Given the description of an element on the screen output the (x, y) to click on. 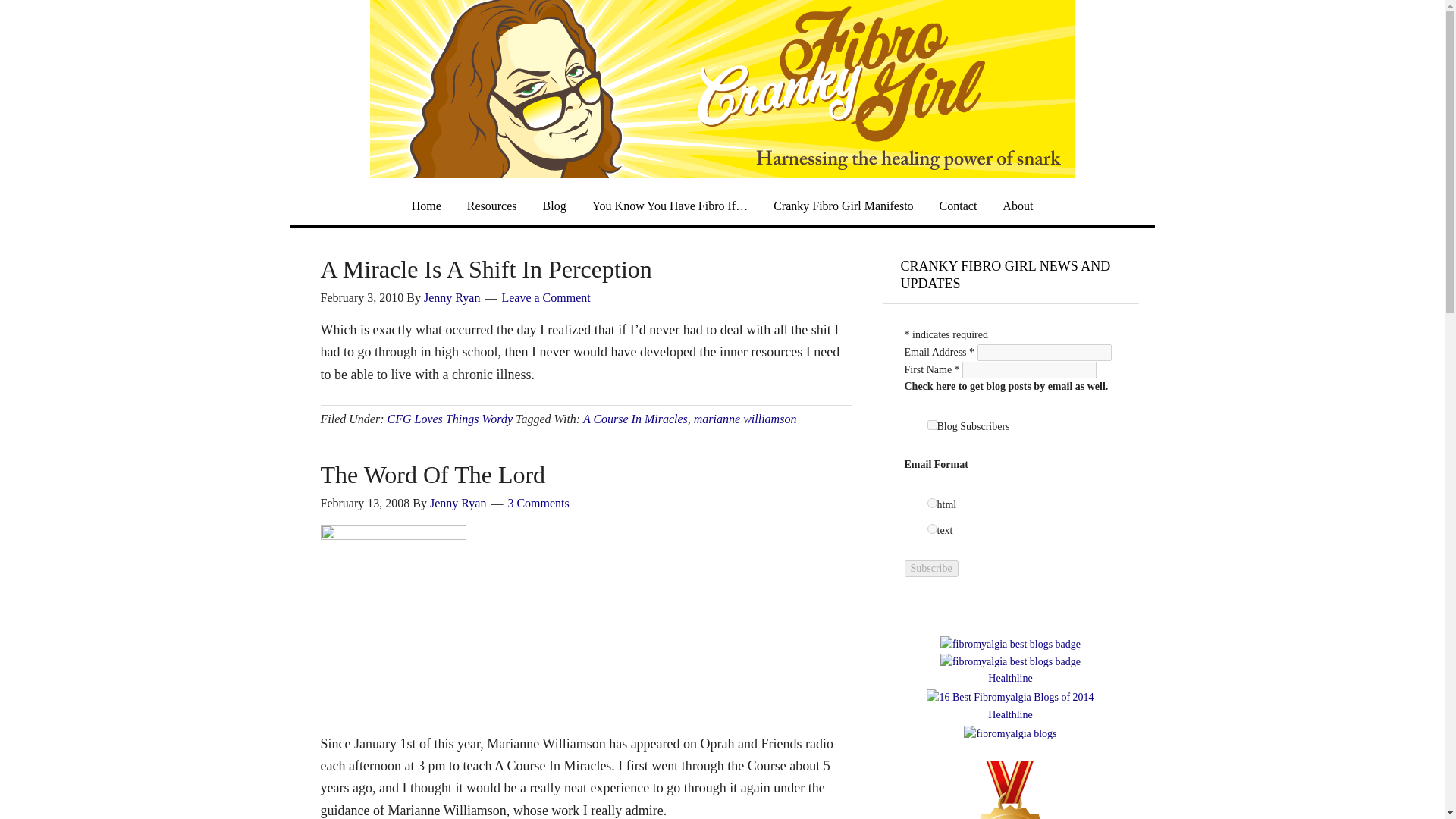
A Miracle Is A Shift In Perception (485, 268)
Healthline (1010, 677)
1 (931, 424)
Healthline (1010, 714)
Jenny Ryan (451, 297)
Leave a Comment (544, 297)
Resources (491, 204)
Jenny Ryan (457, 502)
About (1017, 204)
Subscribe (931, 568)
